Given the description of an element on the screen output the (x, y) to click on. 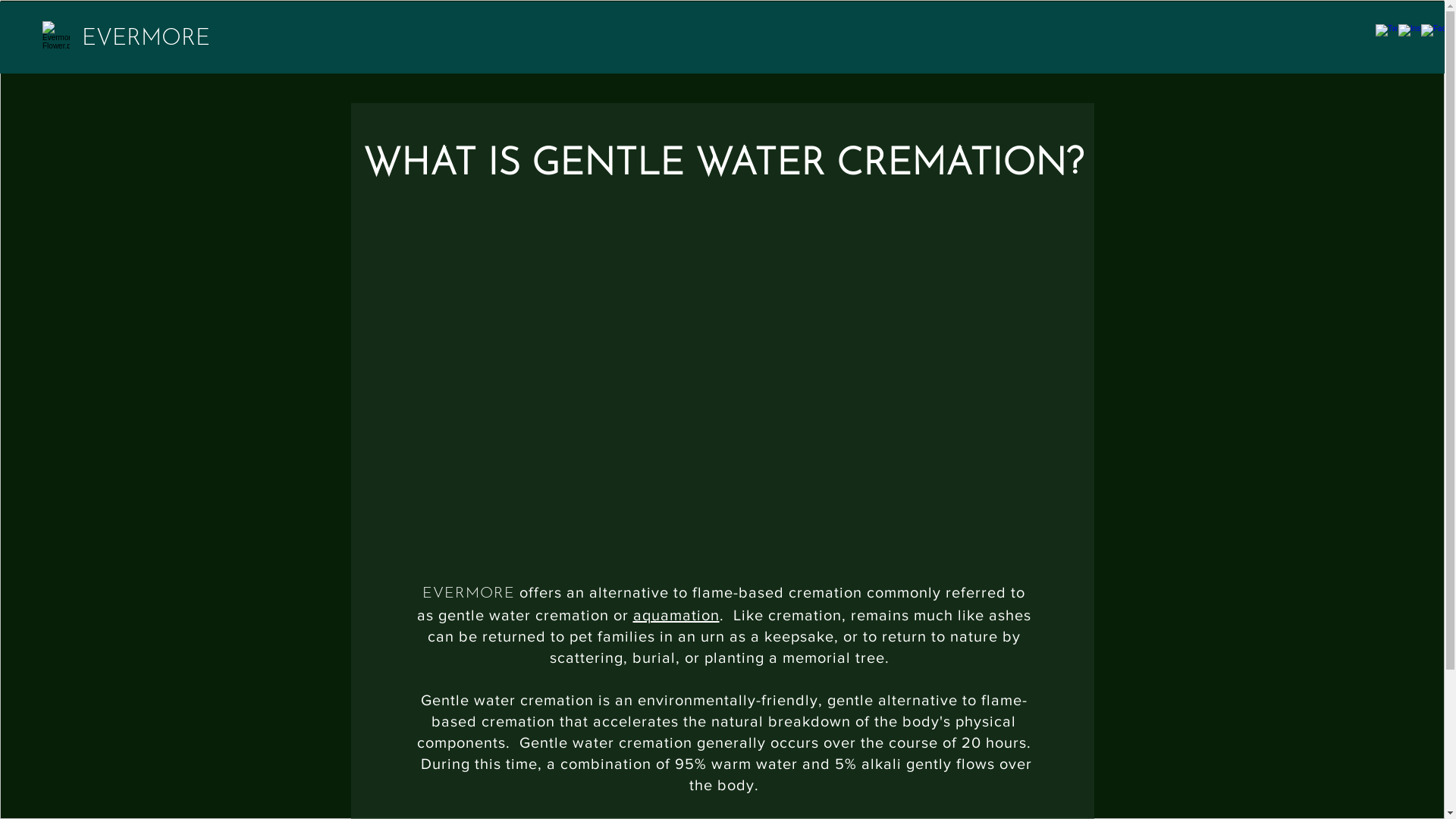
EVERMORE Element type: text (145, 38)
aquamation Element type: text (675, 614)
